Given the description of an element on the screen output the (x, y) to click on. 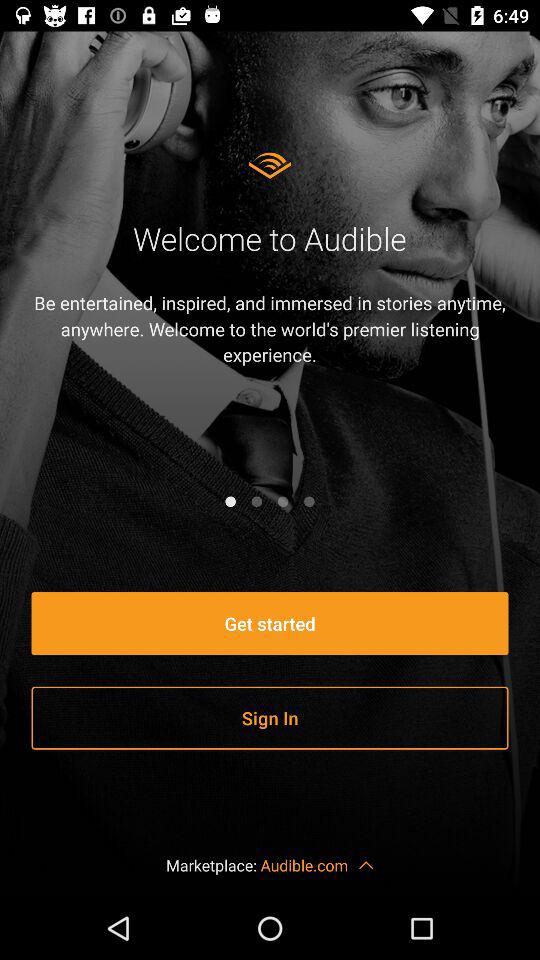
click the icon below be entertained inspired (309, 501)
